Given the description of an element on the screen output the (x, y) to click on. 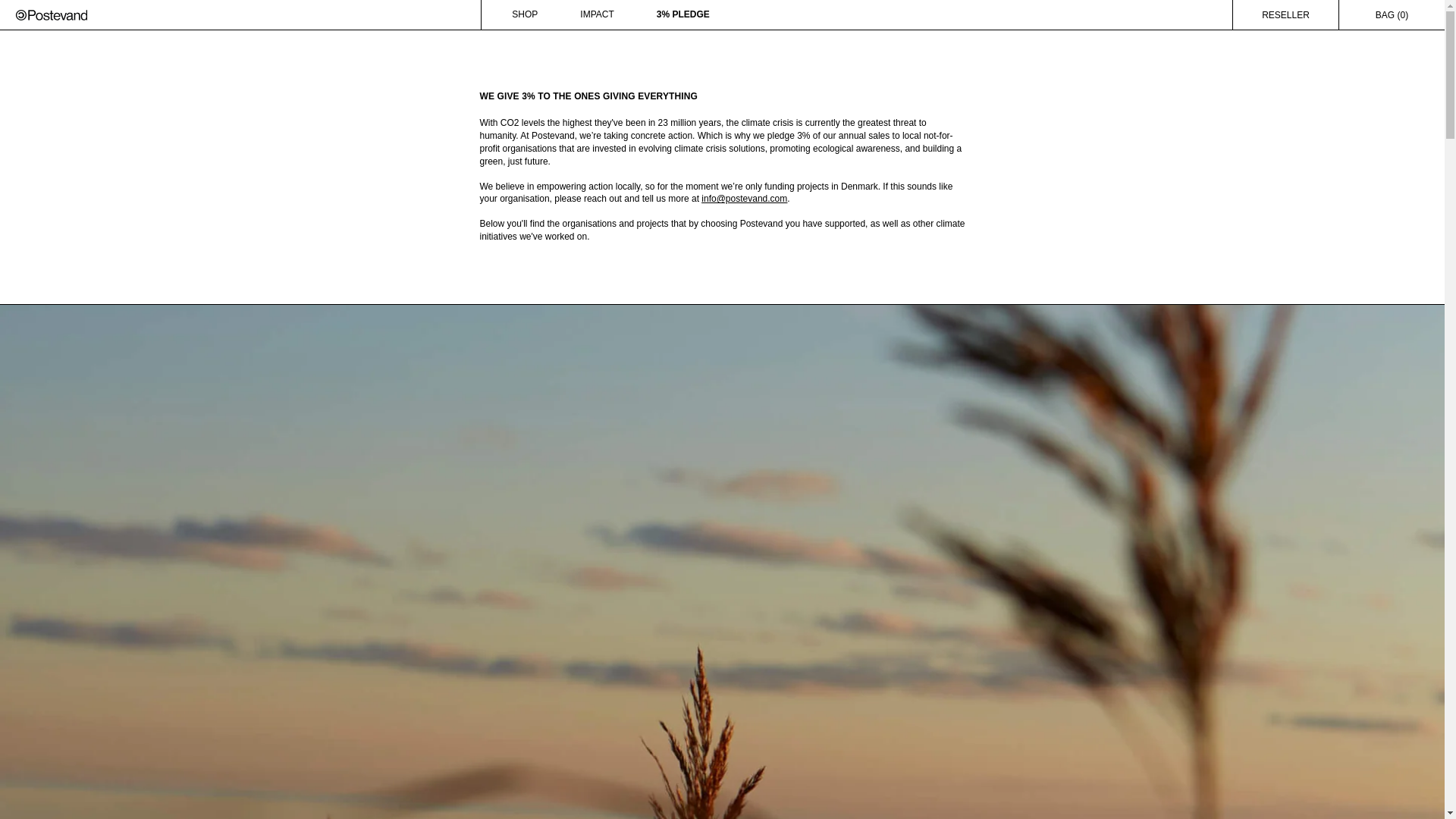
IMPACT (596, 14)
SHOP (523, 14)
RESELLER (1284, 14)
